Given the description of an element on the screen output the (x, y) to click on. 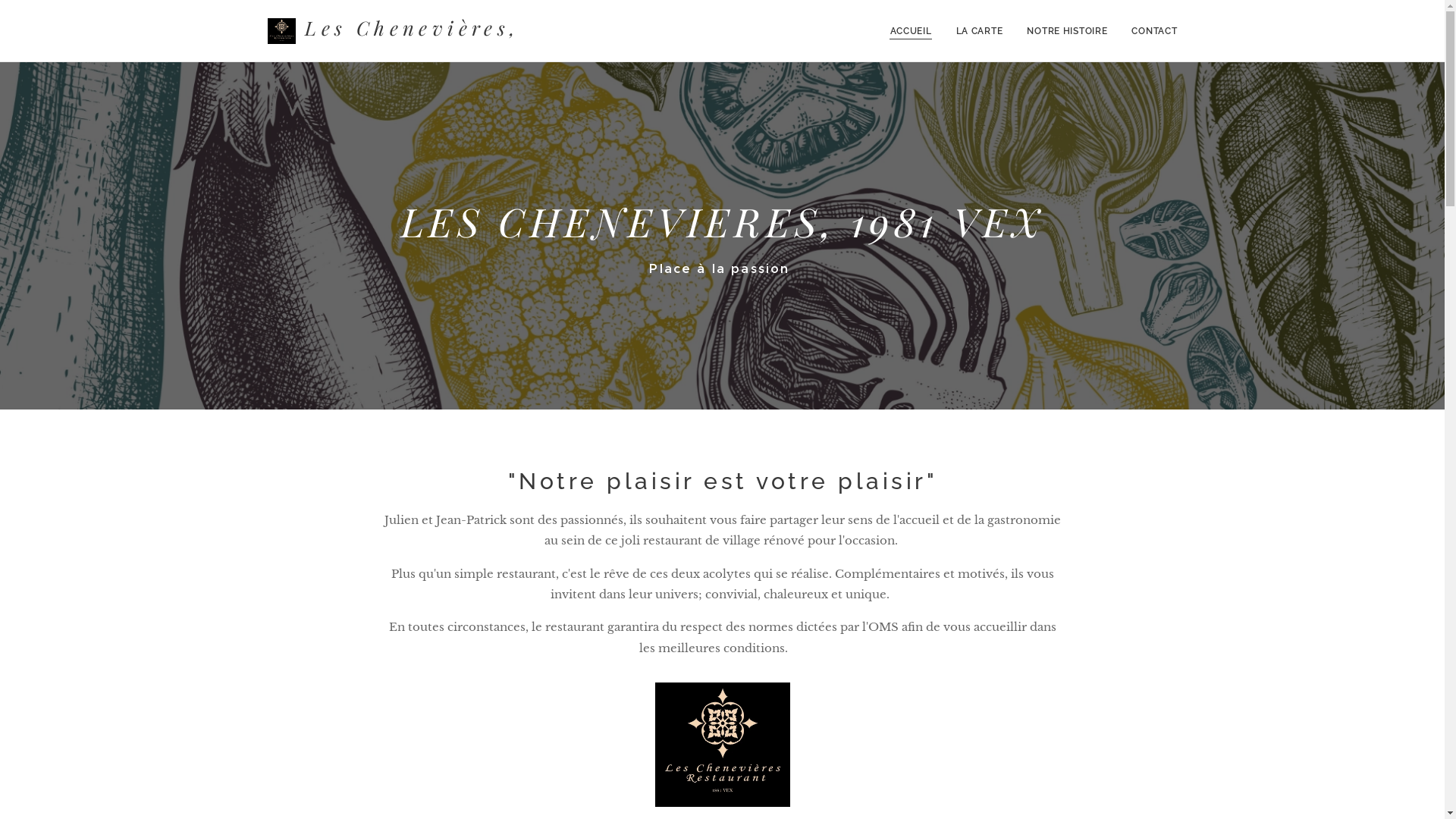
LA CARTE Element type: text (979, 31)
NOTRE HISTOIRE Element type: text (1066, 31)
CONTACT Element type: text (1147, 31)
ACCUEIL Element type: text (915, 31)
